Given the description of an element on the screen output the (x, y) to click on. 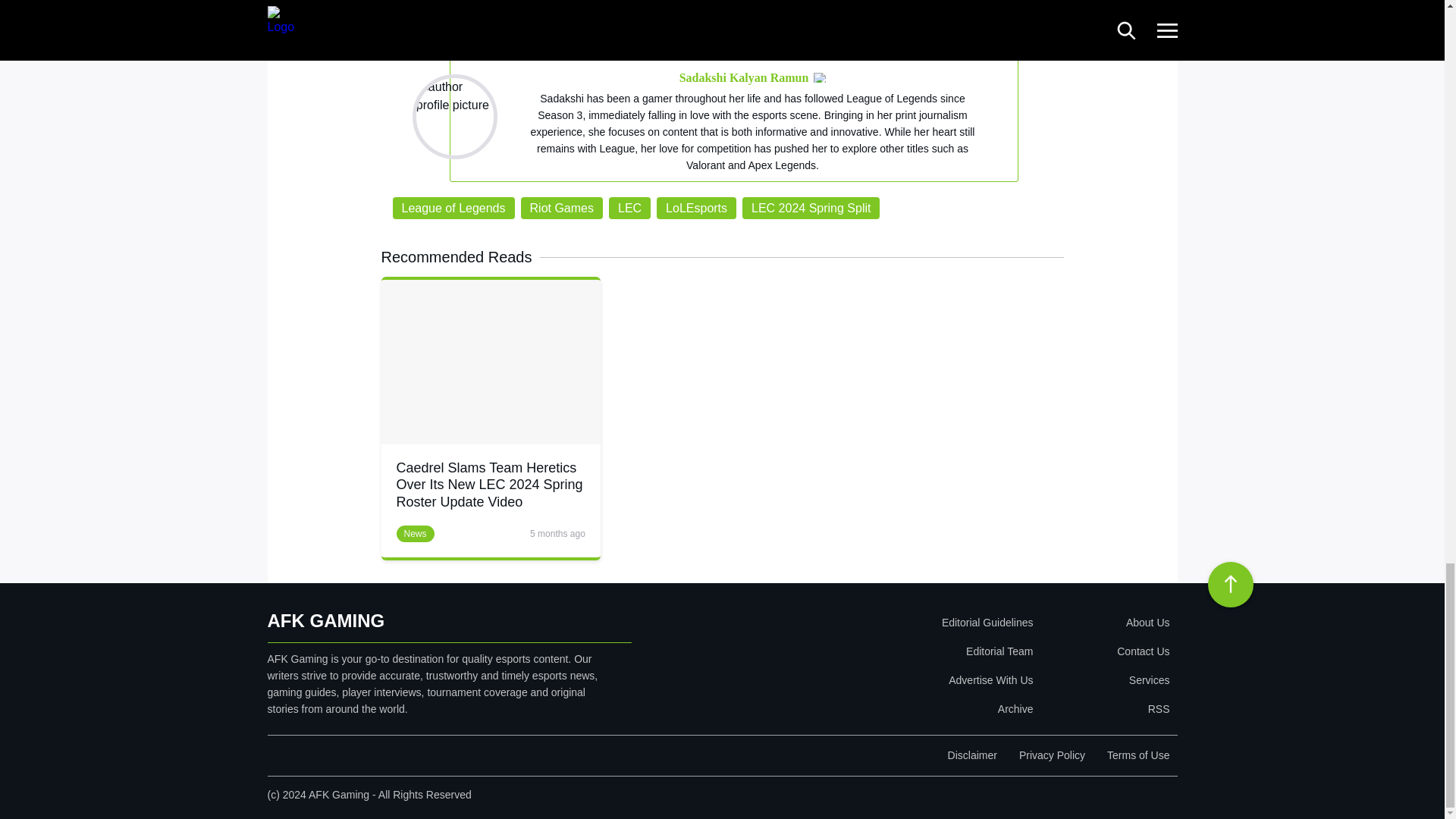
League of Legends (454, 208)
LoLEsports (696, 208)
RSS (1105, 708)
Riot Games (561, 208)
Editorial Team (899, 651)
About Us (1105, 622)
Archive (899, 708)
LEC (629, 208)
Disclaimer (972, 755)
Advertise With Us (899, 680)
Contact Us (1105, 651)
Services (1105, 680)
Terms of Use (1137, 755)
LEC 2024 Spring Split (810, 208)
